Given the description of an element on the screen output the (x, y) to click on. 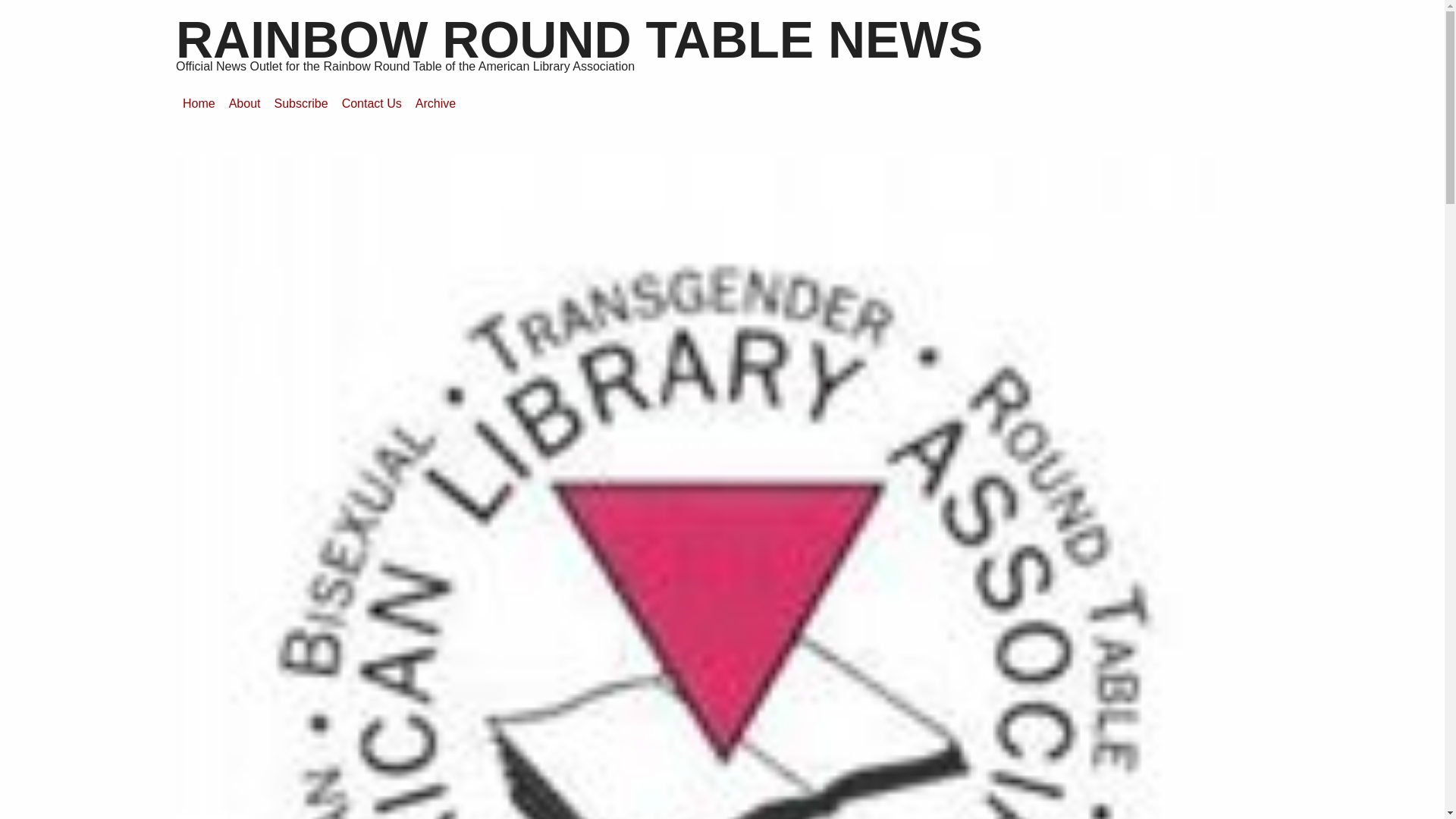
RAINBOW ROUND TABLE NEWS (579, 38)
About (244, 103)
Subscribe (300, 103)
Contact Us (371, 103)
Archive (436, 103)
Home (199, 103)
